Given the description of an element on the screen output the (x, y) to click on. 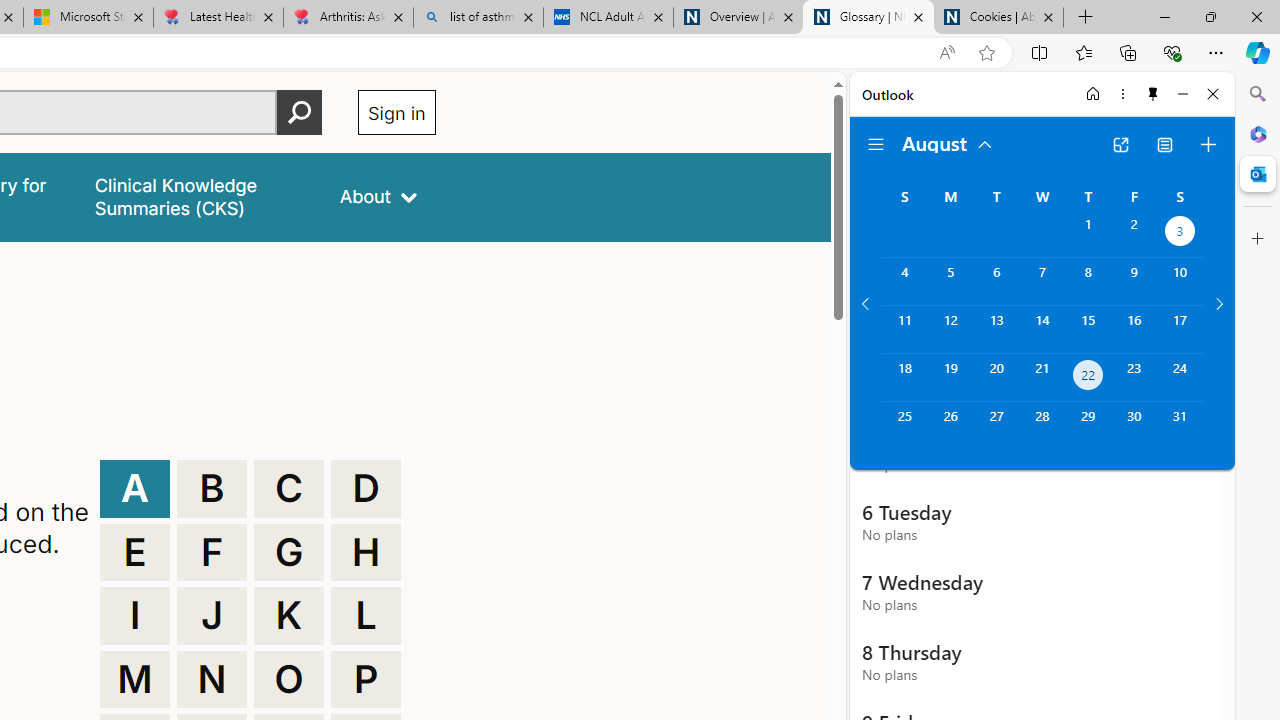
Saturday, August 17, 2024.  (1180, 329)
B (212, 488)
H (365, 551)
K (289, 615)
Thursday, August 8, 2024.  (1088, 281)
Sunday, August 4, 2024.  (904, 281)
P (365, 679)
Thursday, August 29, 2024.  (1088, 425)
